Given the description of an element on the screen output the (x, y) to click on. 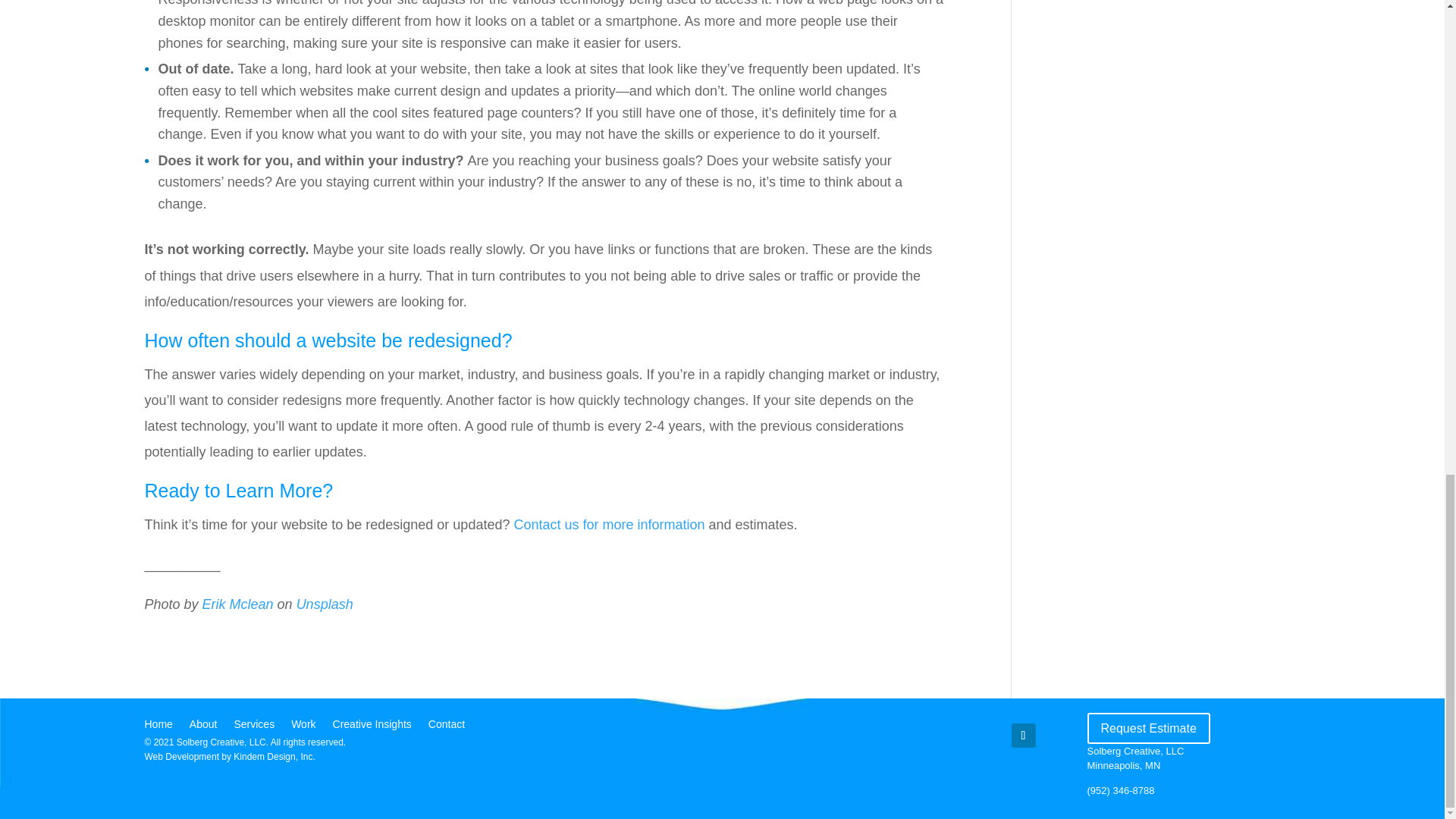
Erik Mclean (237, 604)
Follow on LinkedIn (1023, 735)
Unsplash (325, 604)
Contact us for more information (608, 524)
